Given the description of an element on the screen output the (x, y) to click on. 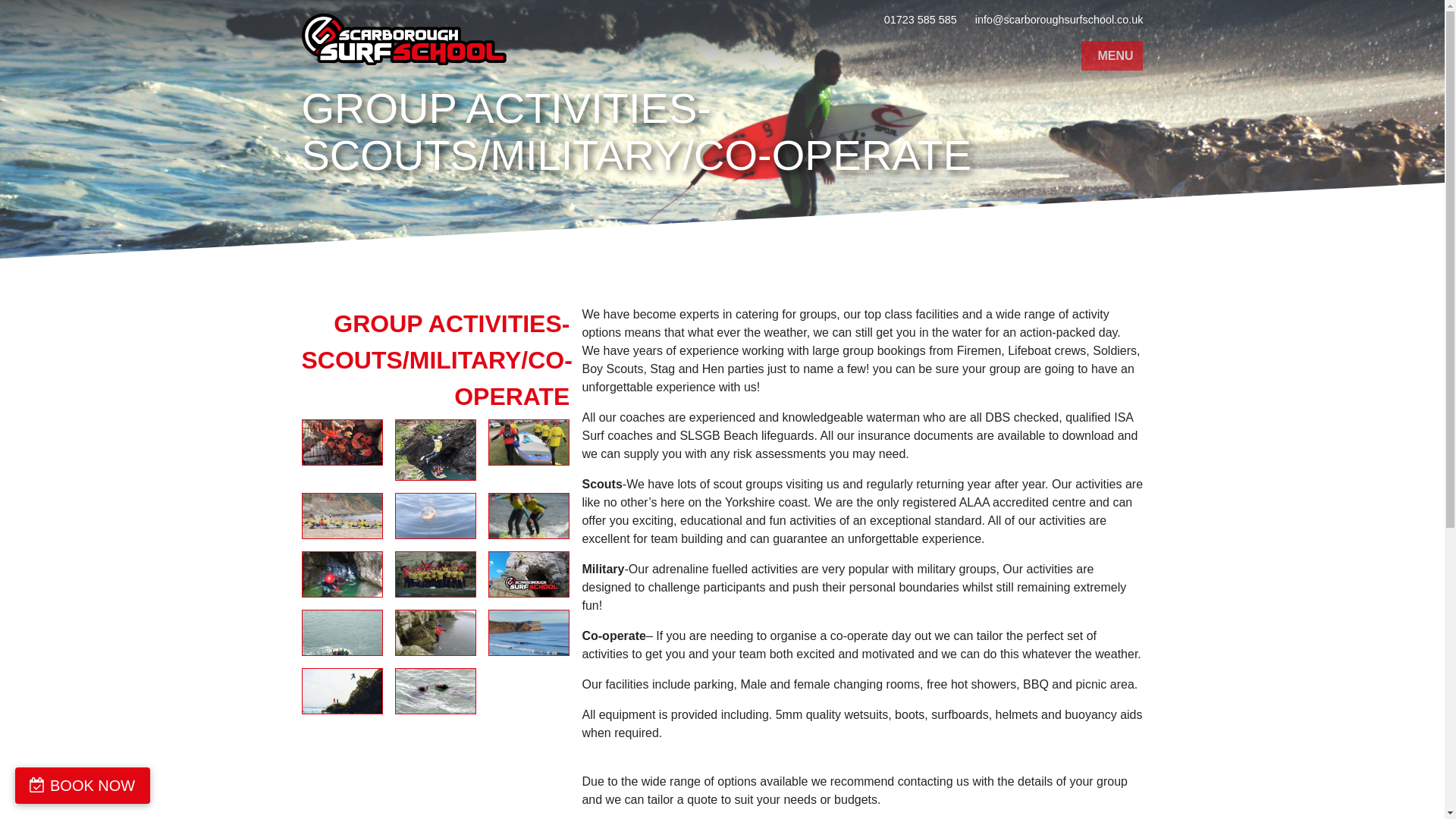
image14 (528, 632)
MENU (1111, 55)
image0 (341, 691)
image12 (341, 442)
7aded449-0492-46a6-ae8f-100472f4e755-1 (341, 574)
Super SUP (528, 442)
image8 (435, 632)
image4 (435, 574)
